Given the description of an element on the screen output the (x, y) to click on. 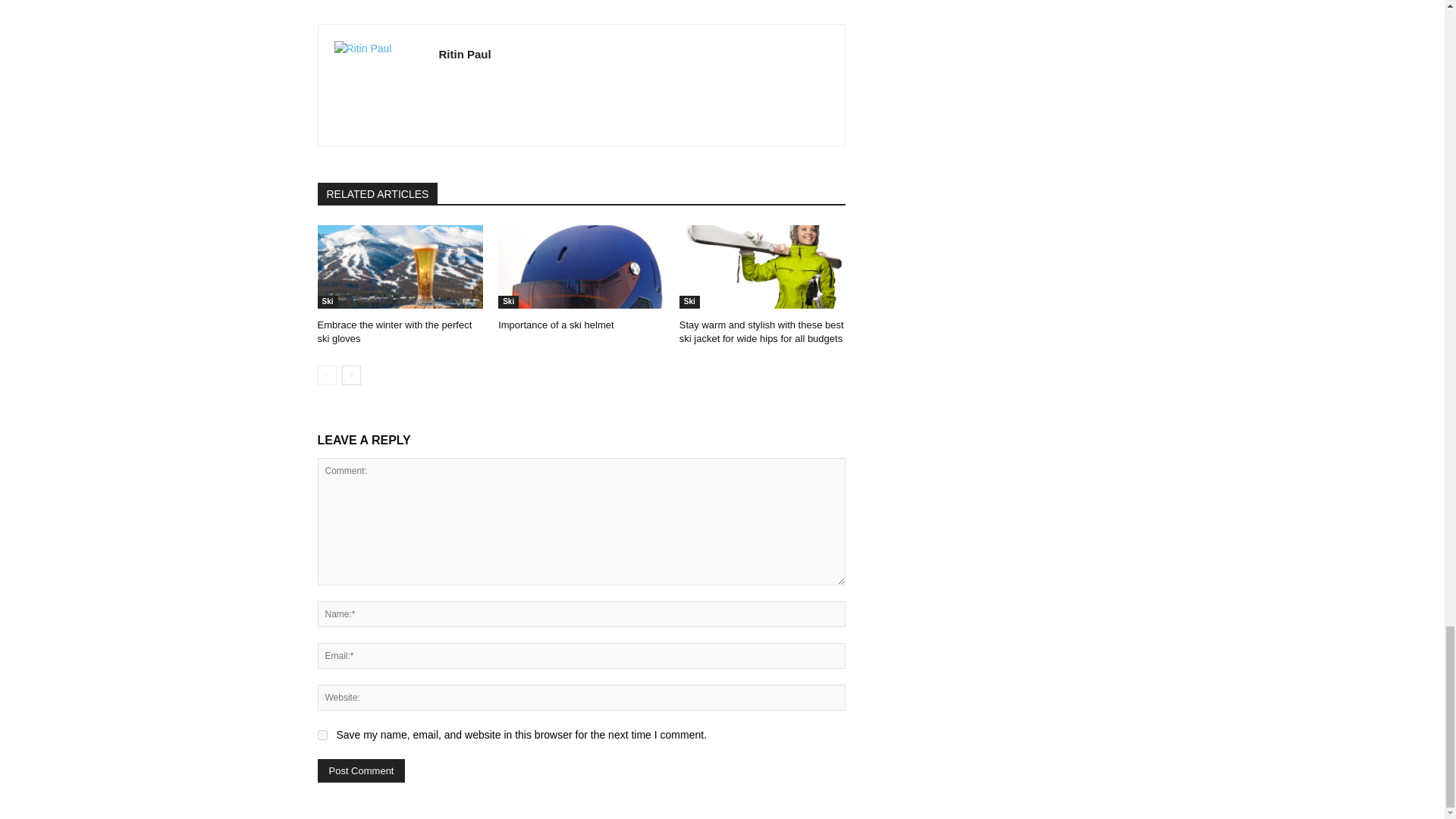
Post Comment (360, 770)
yes (321, 735)
